Given the description of an element on the screen output the (x, y) to click on. 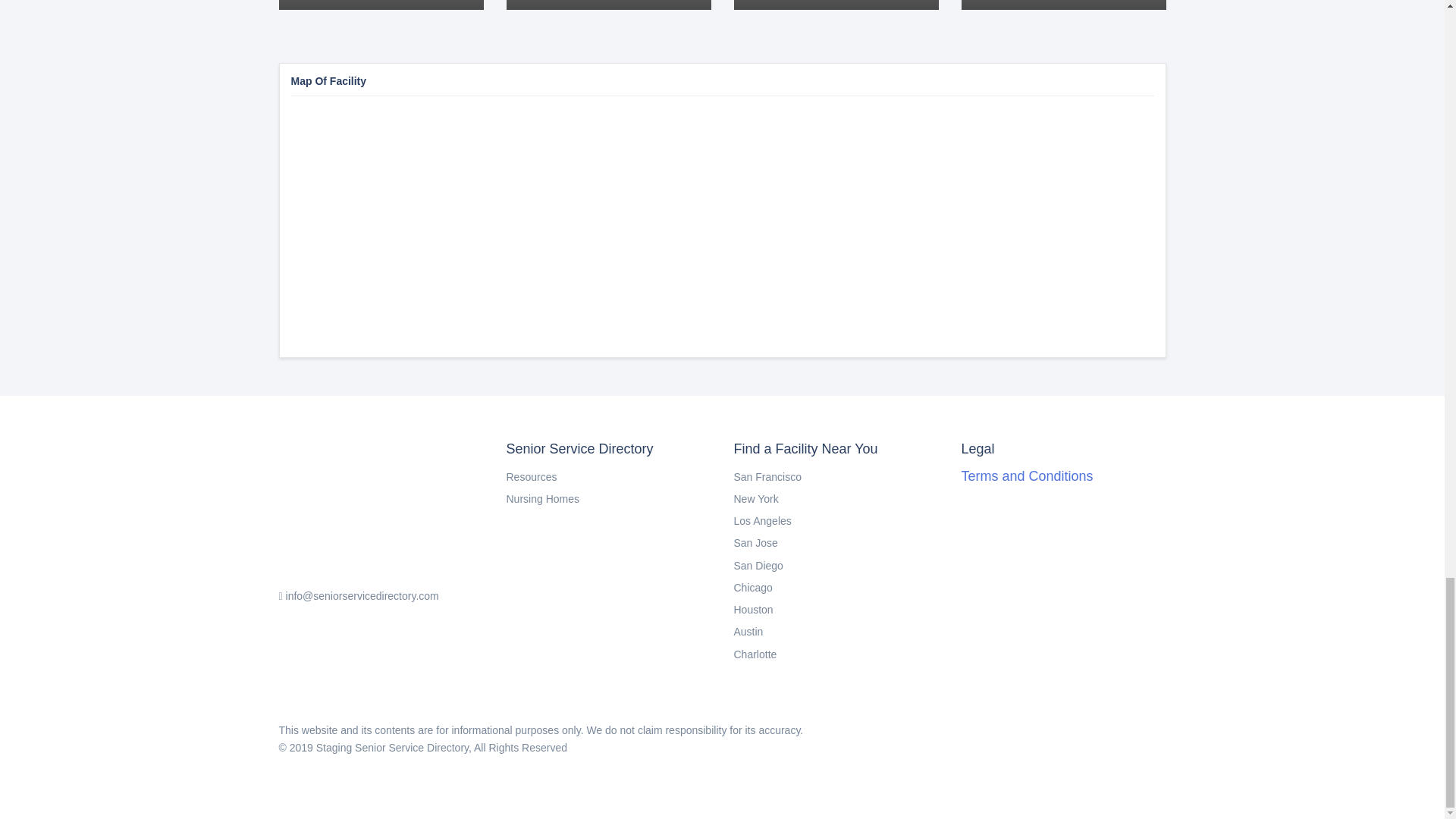
Nursing Homes (542, 499)
San Francisco (767, 476)
Terms and Conditions (1026, 476)
Charlotte (755, 654)
New York (1063, 4)
San Jose (755, 499)
Chicago (381, 4)
Houston (755, 542)
Austin (753, 587)
Los Angeles (753, 609)
Resources (747, 631)
